Given the description of an element on the screen output the (x, y) to click on. 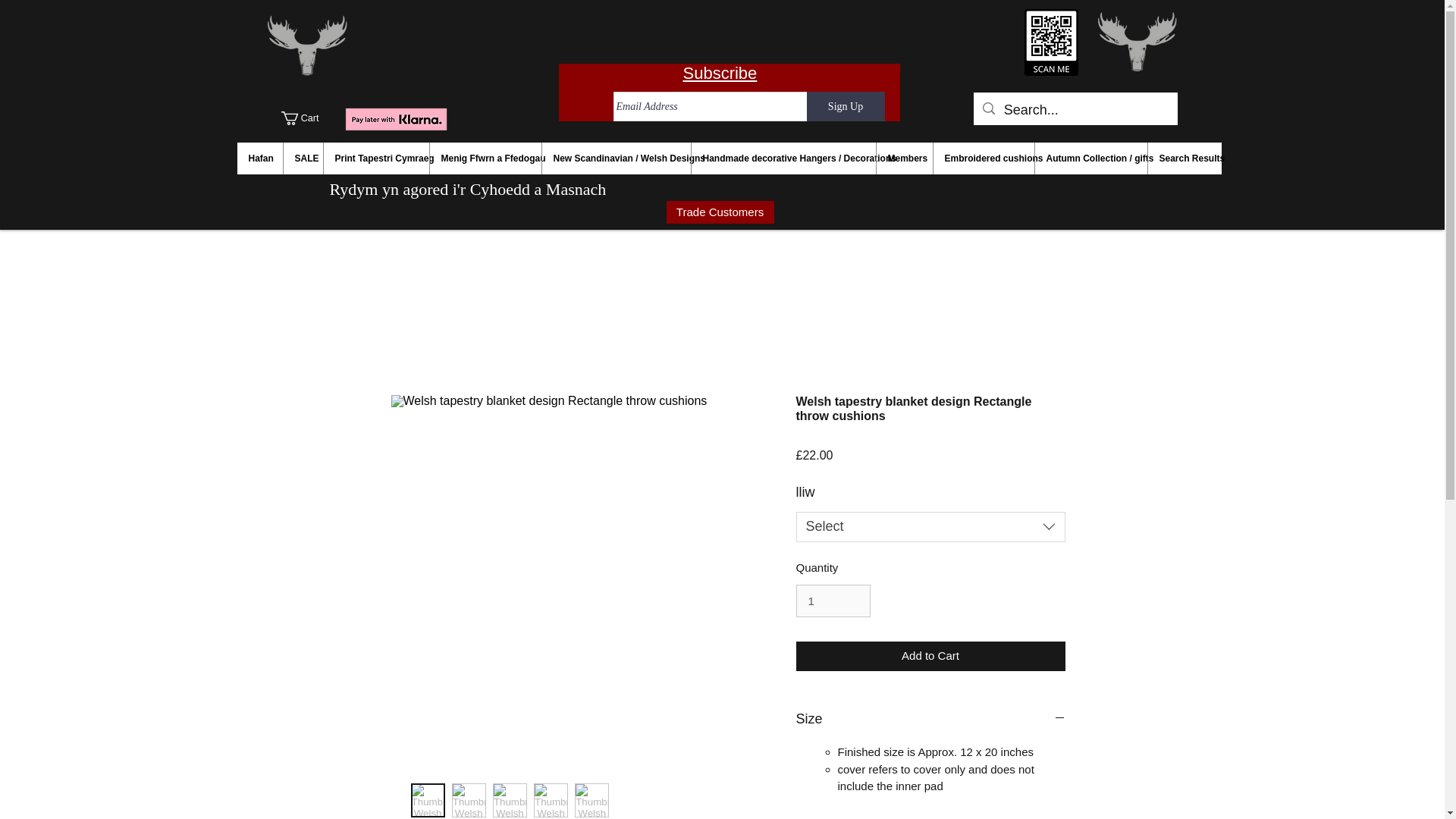
1 (833, 601)
Sign Up (845, 106)
Cart (307, 118)
Print Tapestri Cymraeg (376, 158)
SALE (301, 158)
Hafan (258, 158)
Members (903, 158)
Cart (307, 118)
Menig Ffwrn a Ffedogau (485, 158)
Embroidered cushions (983, 158)
